Given the description of an element on the screen output the (x, y) to click on. 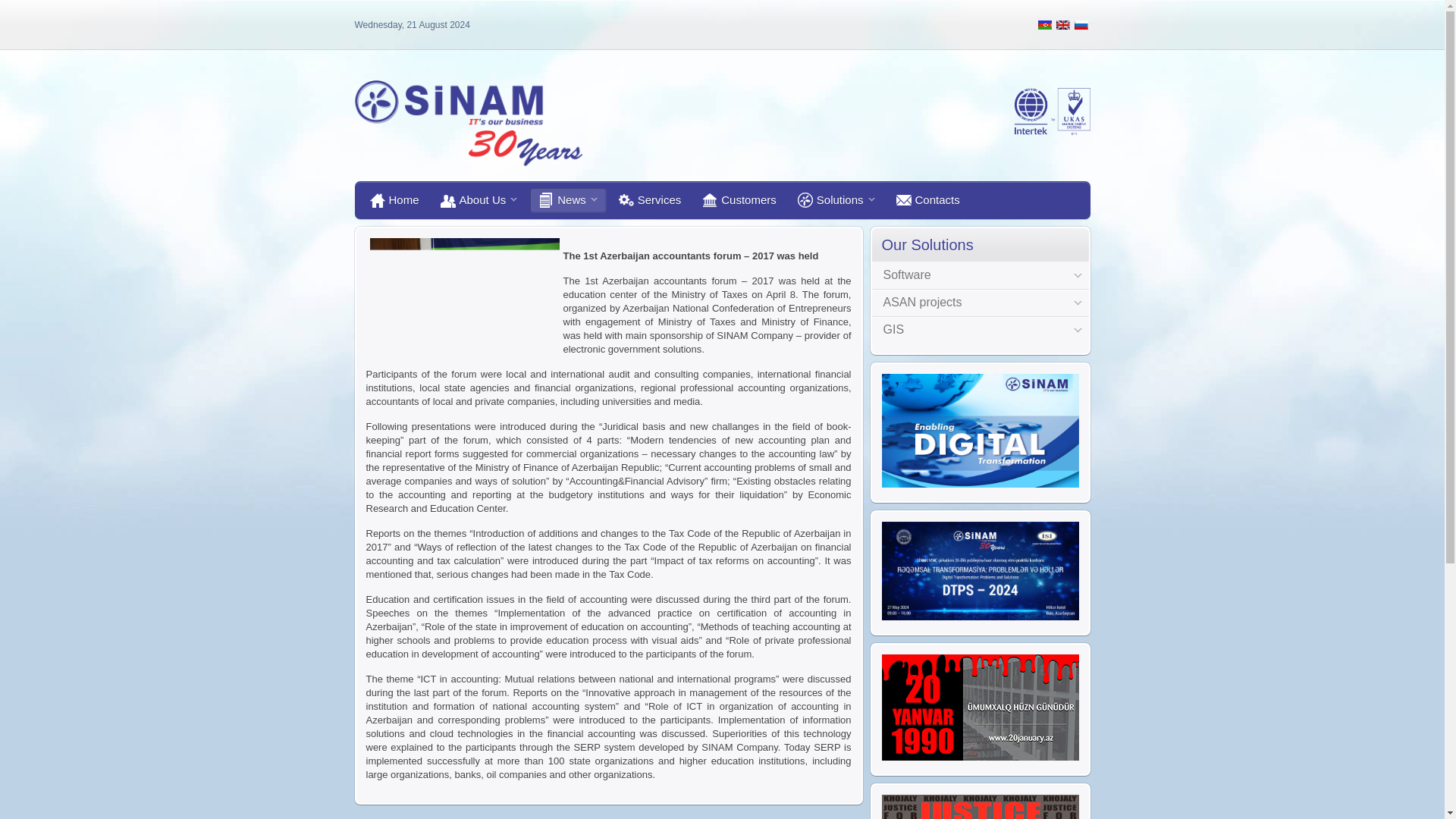
News (567, 200)
Contacts (928, 200)
About Us (478, 200)
Solutions (836, 200)
ru (1081, 24)
en (1062, 24)
Services (650, 200)
Customers (739, 200)
Home (393, 200)
Az (1044, 24)
